Given the description of an element on the screen output the (x, y) to click on. 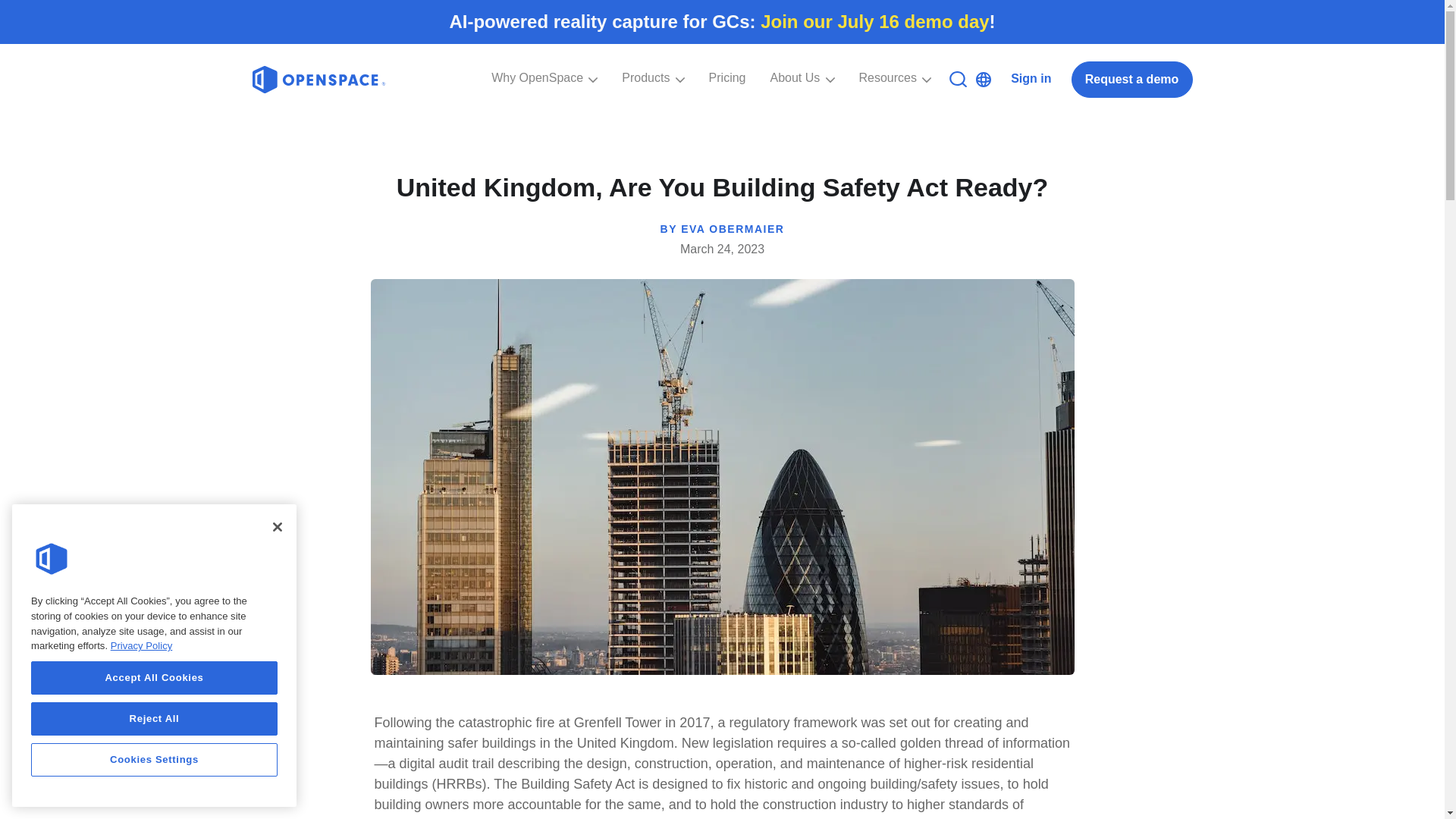
Resources (895, 90)
About Us (802, 90)
OpenSpace (51, 558)
Why OpenSpace (544, 90)
Products (652, 90)
OpenSpace (318, 79)
Join our July 16 demo day (874, 21)
